Given the description of an element on the screen output the (x, y) to click on. 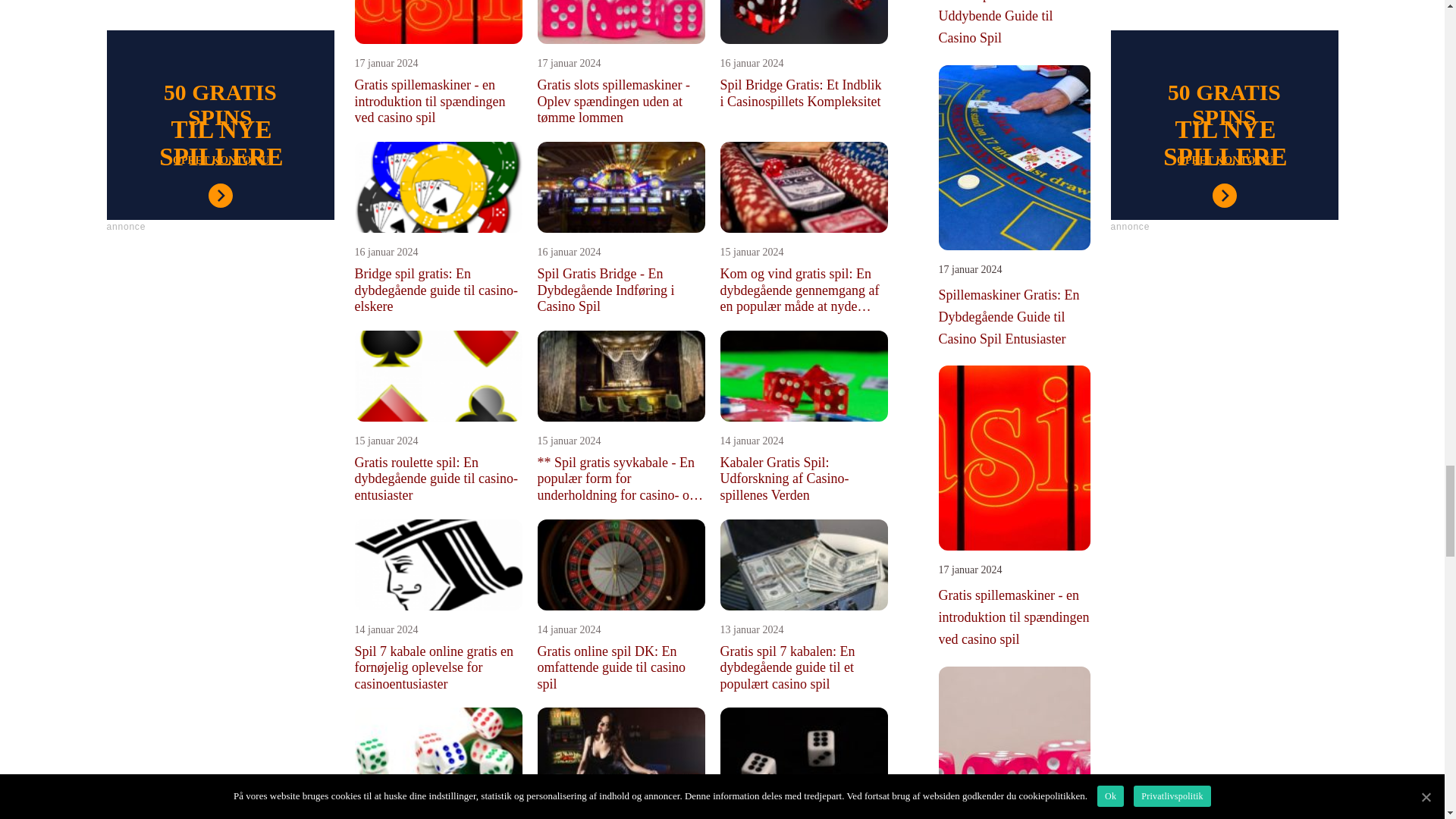
Kabaler Gratis Spil: Udforskning af Casino-spillenes Verden (804, 479)
Spil Bridge Gratis: Et Indblik i Casinospillets Kompleksitet (804, 92)
